Given the description of an element on the screen output the (x, y) to click on. 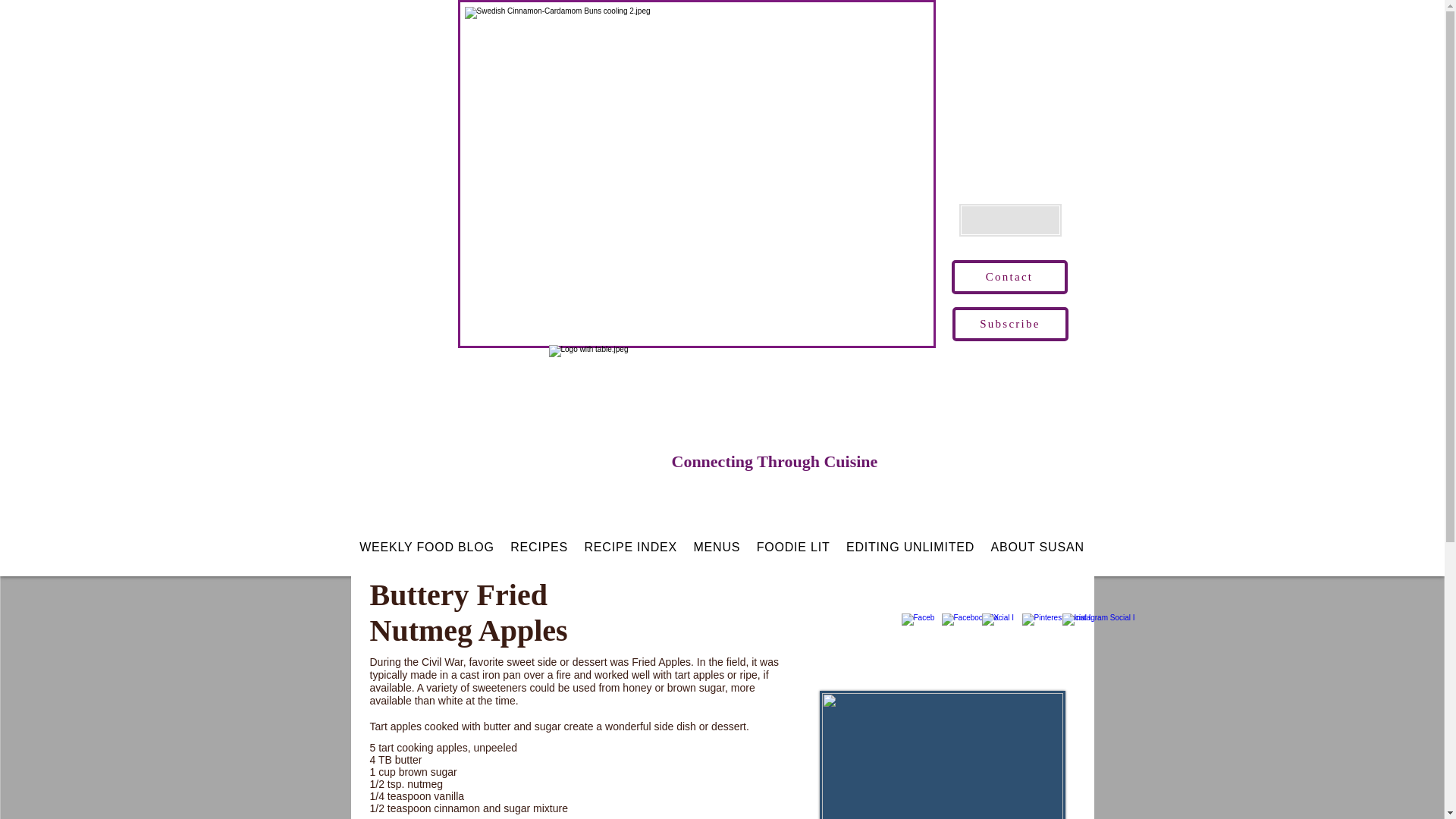
WEEKLY FOOD BLOG (427, 547)
Subscribe (1010, 324)
Contact (1008, 277)
